Given the description of an element on the screen output the (x, y) to click on. 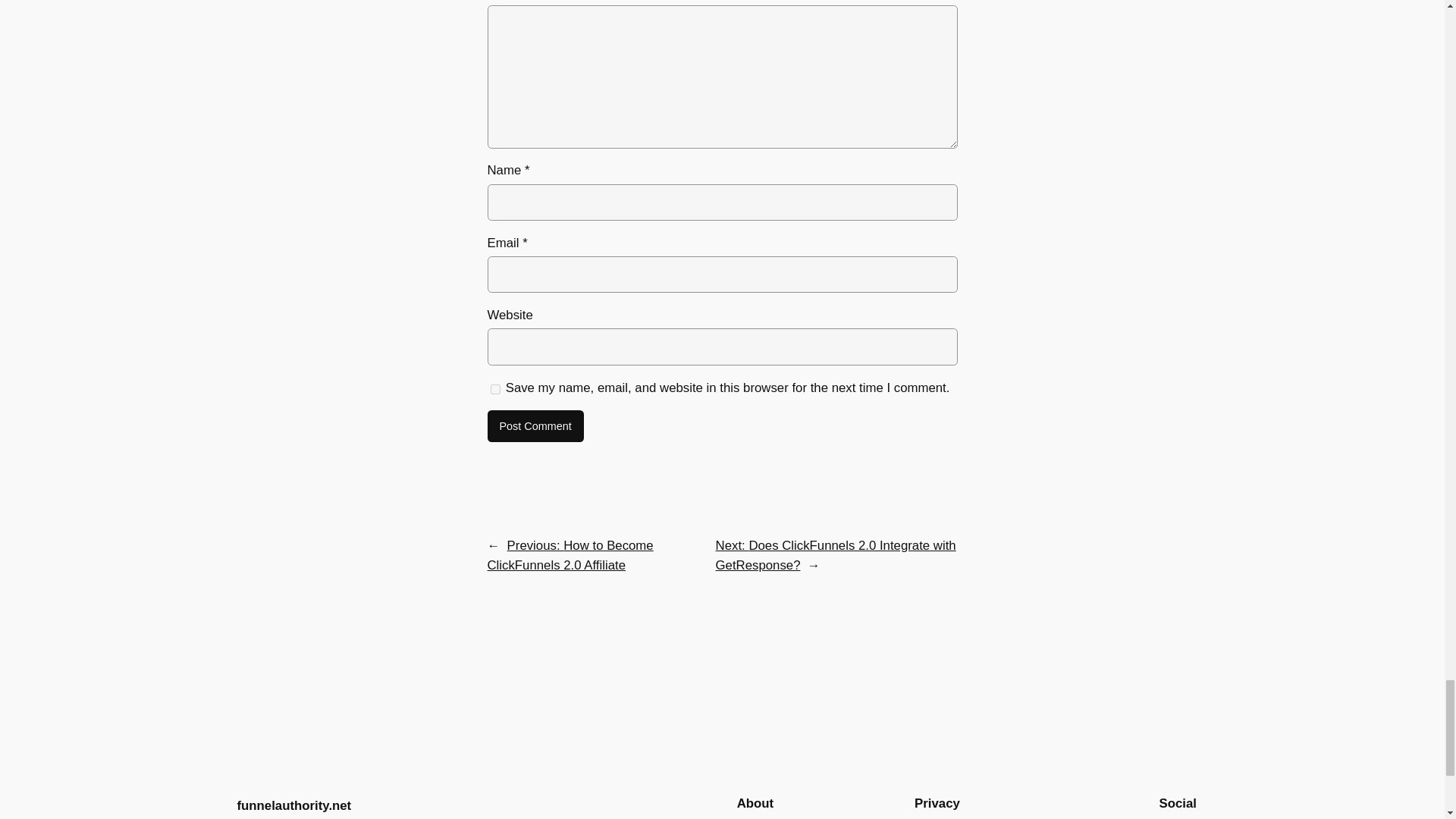
Previous: How to Become ClickFunnels 2.0 Affiliate (569, 555)
funnelauthority.net (292, 805)
Post Comment (534, 426)
Post Comment (534, 426)
Next: Does ClickFunnels 2.0 Integrate with GetResponse? (836, 555)
